Given the description of an element on the screen output the (x, y) to click on. 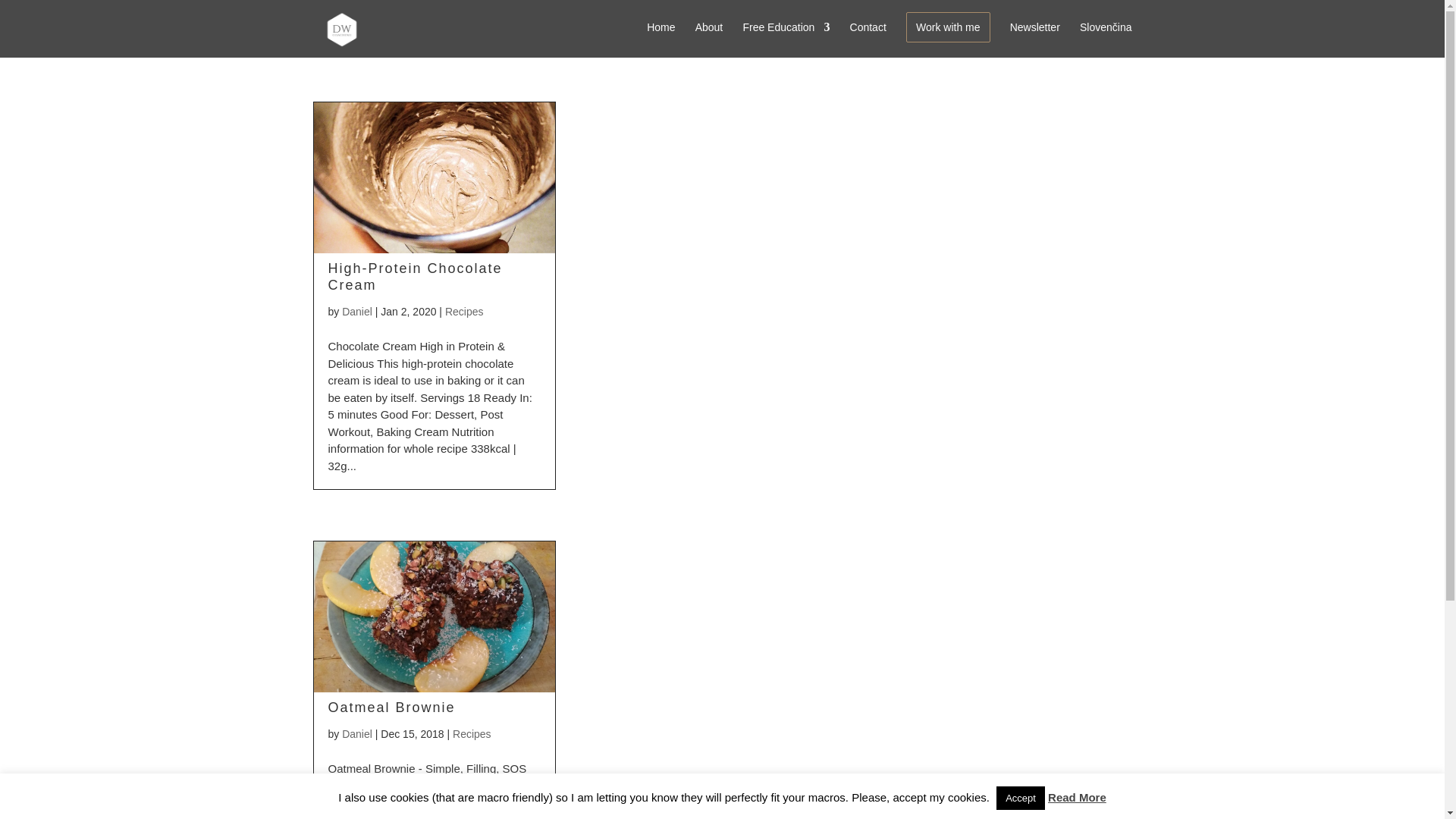
Recipes (464, 311)
Free Education (785, 39)
Oatmeal Brownie (390, 707)
Recipes (472, 734)
Posts by Daniel (357, 311)
Contact (868, 39)
Daniel (357, 311)
Posts by Daniel (357, 734)
High-Protein Chocolate Cream (414, 276)
Newsletter (1034, 39)
